Given the description of an element on the screen output the (x, y) to click on. 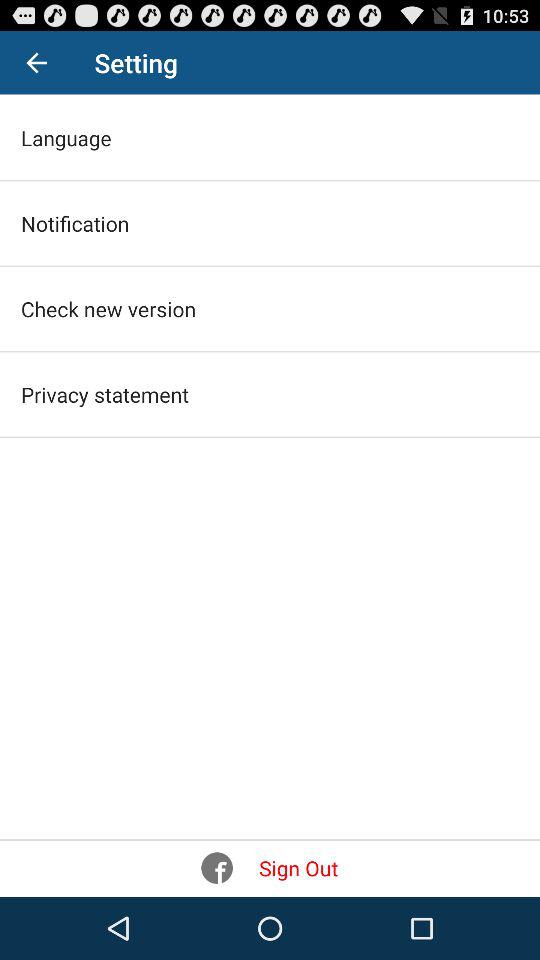
choose the icon below language (75, 223)
